Given the description of an element on the screen output the (x, y) to click on. 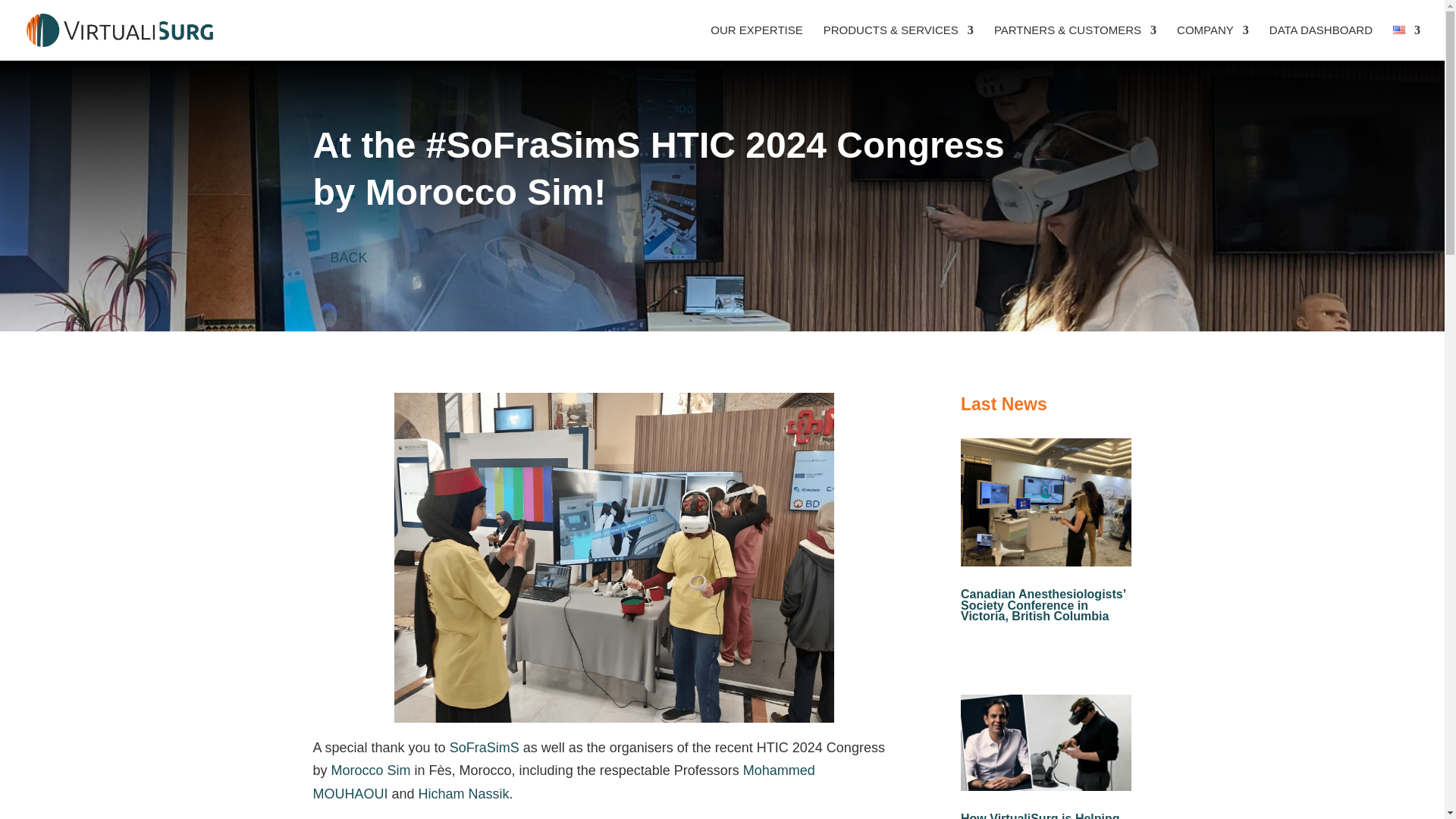
COMPANY (1212, 42)
Morocco Sim (370, 770)
Hicham Nassik (464, 793)
DATA DASHBOARD (1321, 42)
OUR EXPERTISE (756, 42)
SoFraSimS (484, 747)
Mohammed MOUHAOUI (563, 781)
